Given the description of an element on the screen output the (x, y) to click on. 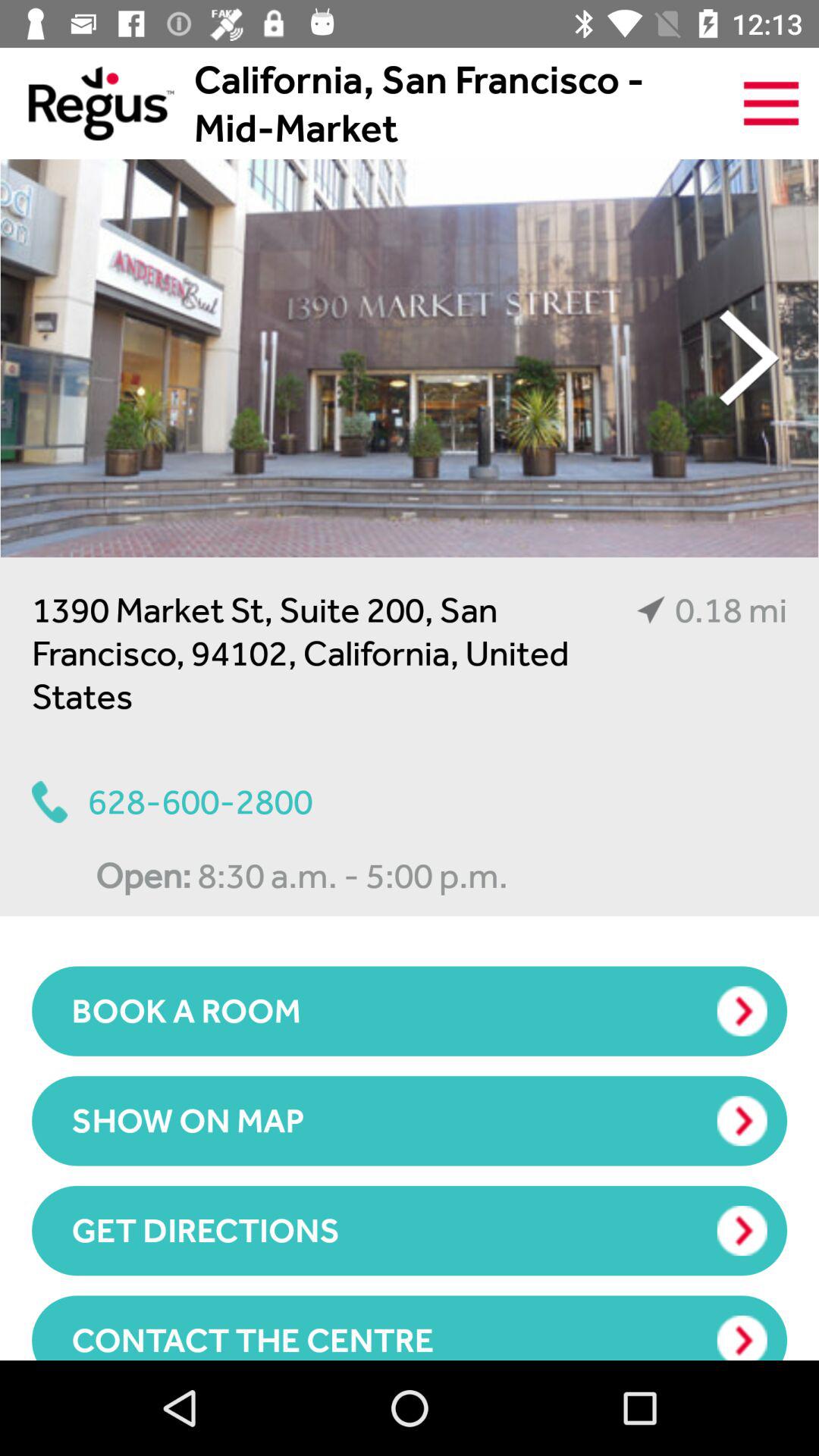
go next (409, 358)
